Given the description of an element on the screen output the (x, y) to click on. 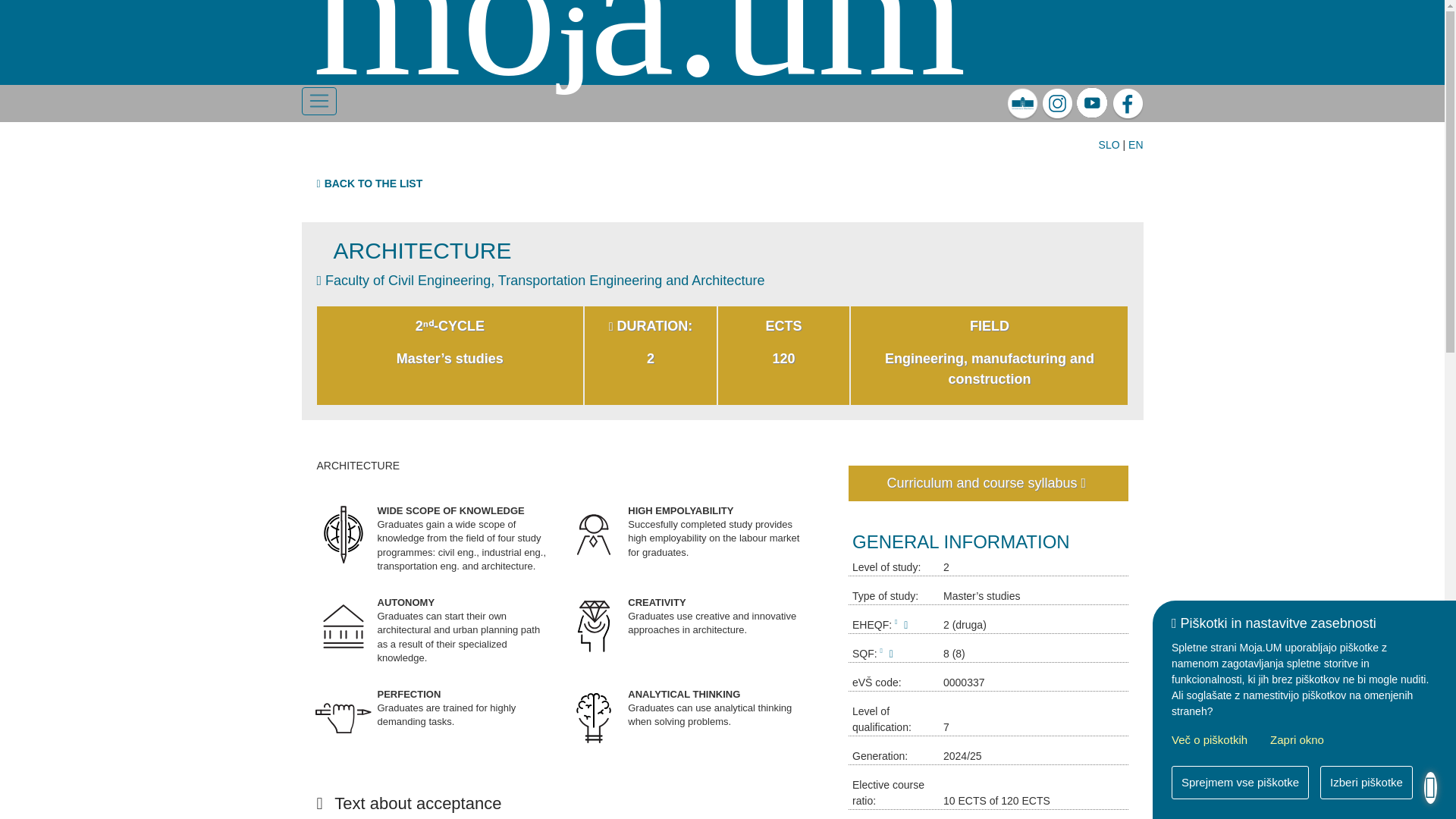
SLO (1109, 144)
Zapri okno (1296, 741)
moja.um (639, 58)
Curriculum and course syllabus (988, 483)
EN (1135, 144)
